Given the description of an element on the screen output the (x, y) to click on. 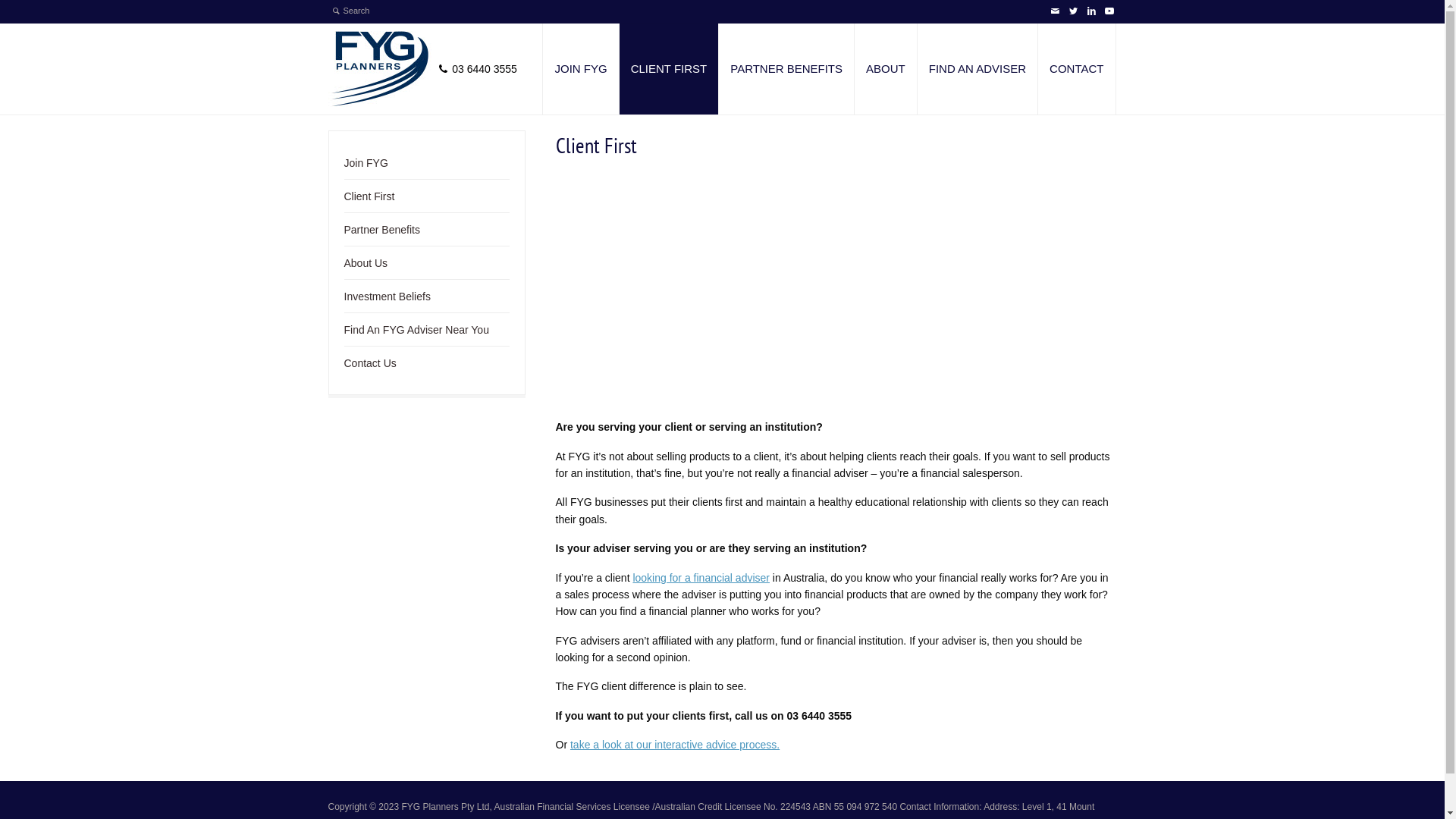
Contact Us Element type: text (370, 367)
looking for a financial adviser Element type: text (700, 577)
Email Element type: hover (1053, 10)
PARTNER BENEFITS Element type: text (785, 68)
Linkedin Element type: hover (1090, 10)
Join FYG Element type: text (366, 166)
Twitter Element type: hover (1071, 10)
ABOUT Element type: text (885, 68)
CLIENT FIRST Element type: text (668, 68)
YouTube Element type: hover (1108, 10)
Partner Benefits Element type: text (382, 233)
Find An FYG Adviser Near You Element type: text (416, 333)
FIND AN ADVISER Element type: text (977, 68)
Client First Element type: text (369, 200)
FYG Planners Element type: hover (378, 68)
Investment Beliefs Element type: text (387, 300)
About Us Element type: text (366, 267)
JOIN FYG Element type: text (580, 68)
take a look at our interactive advice process. Element type: text (674, 744)
CONTACT Element type: text (1076, 68)
